Given the description of an element on the screen output the (x, y) to click on. 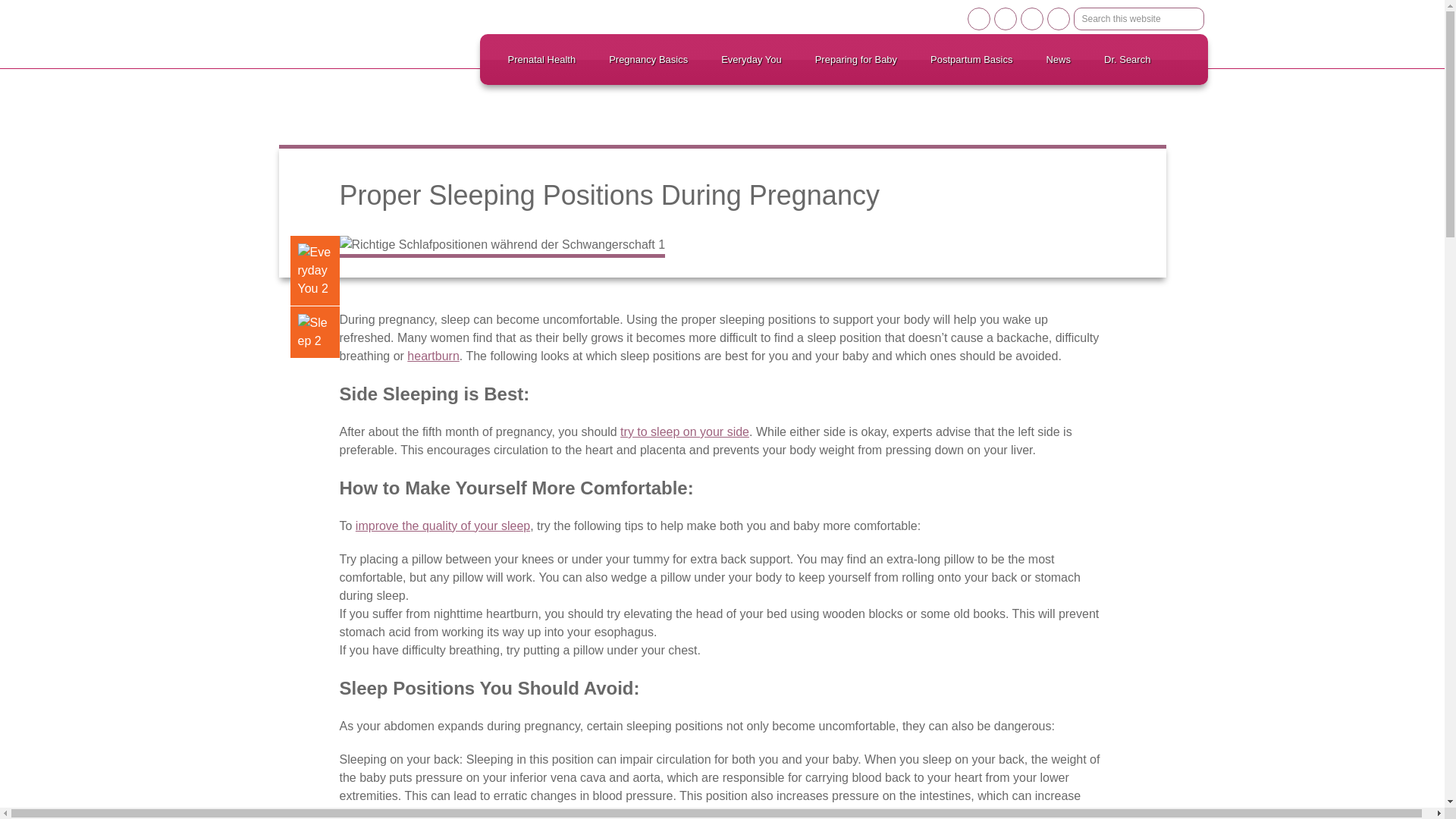
Preparing for Baby (855, 59)
Everyday You (750, 59)
try to sleep on your side (684, 431)
News (1058, 59)
Healthy Pregnancy (349, 30)
heartburn (433, 355)
Postpartum Basics (971, 59)
Prenatal Health (542, 59)
improve the quality of your sleep (442, 525)
Dr. Search (1127, 59)
Pregnancy Basics (648, 59)
